Given the description of an element on the screen output the (x, y) to click on. 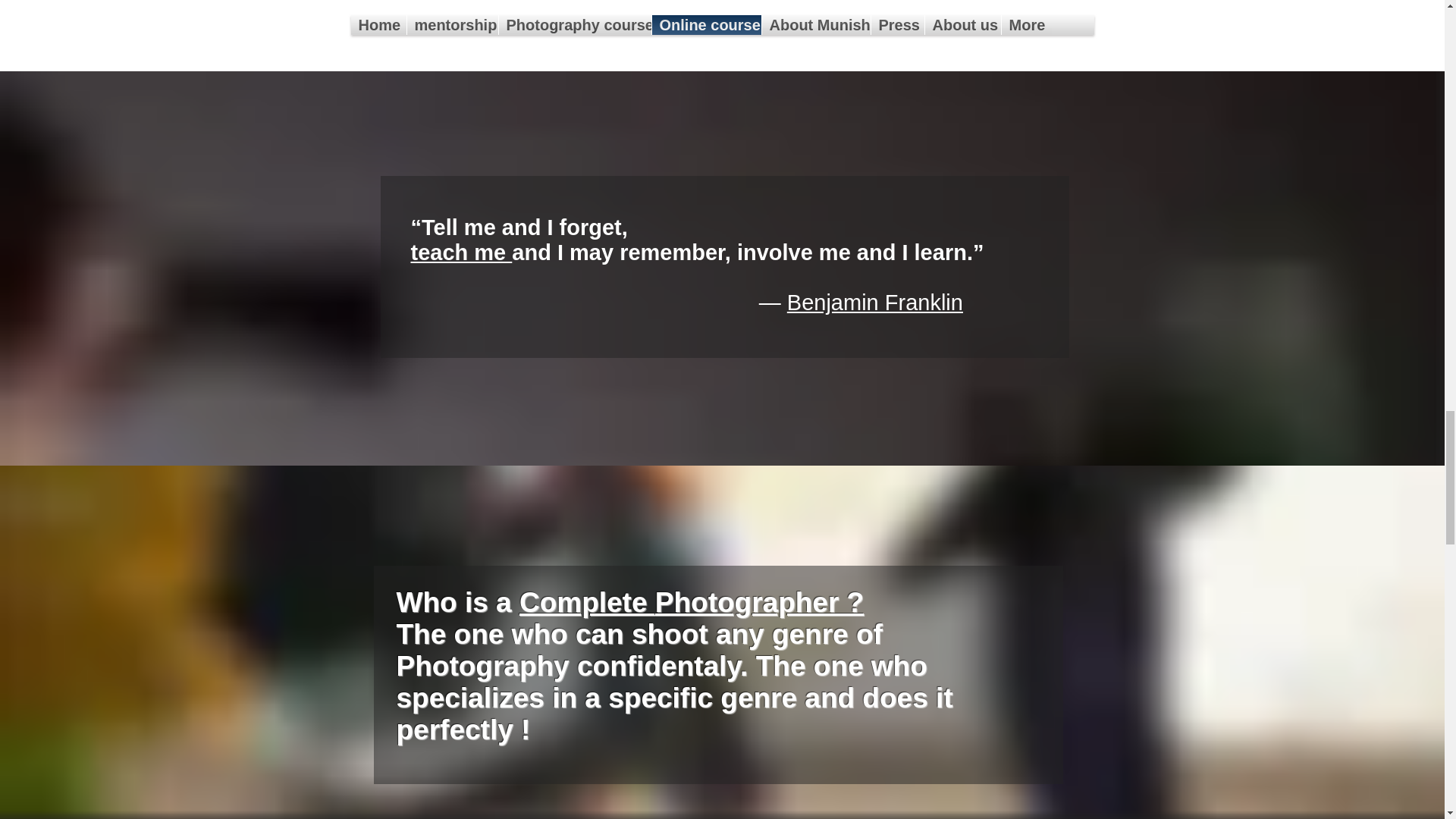
teach me (461, 252)
Complete Photographer ? (691, 602)
External YouTube (721, 23)
Benjamin Franklin (874, 302)
